Given the description of an element on the screen output the (x, y) to click on. 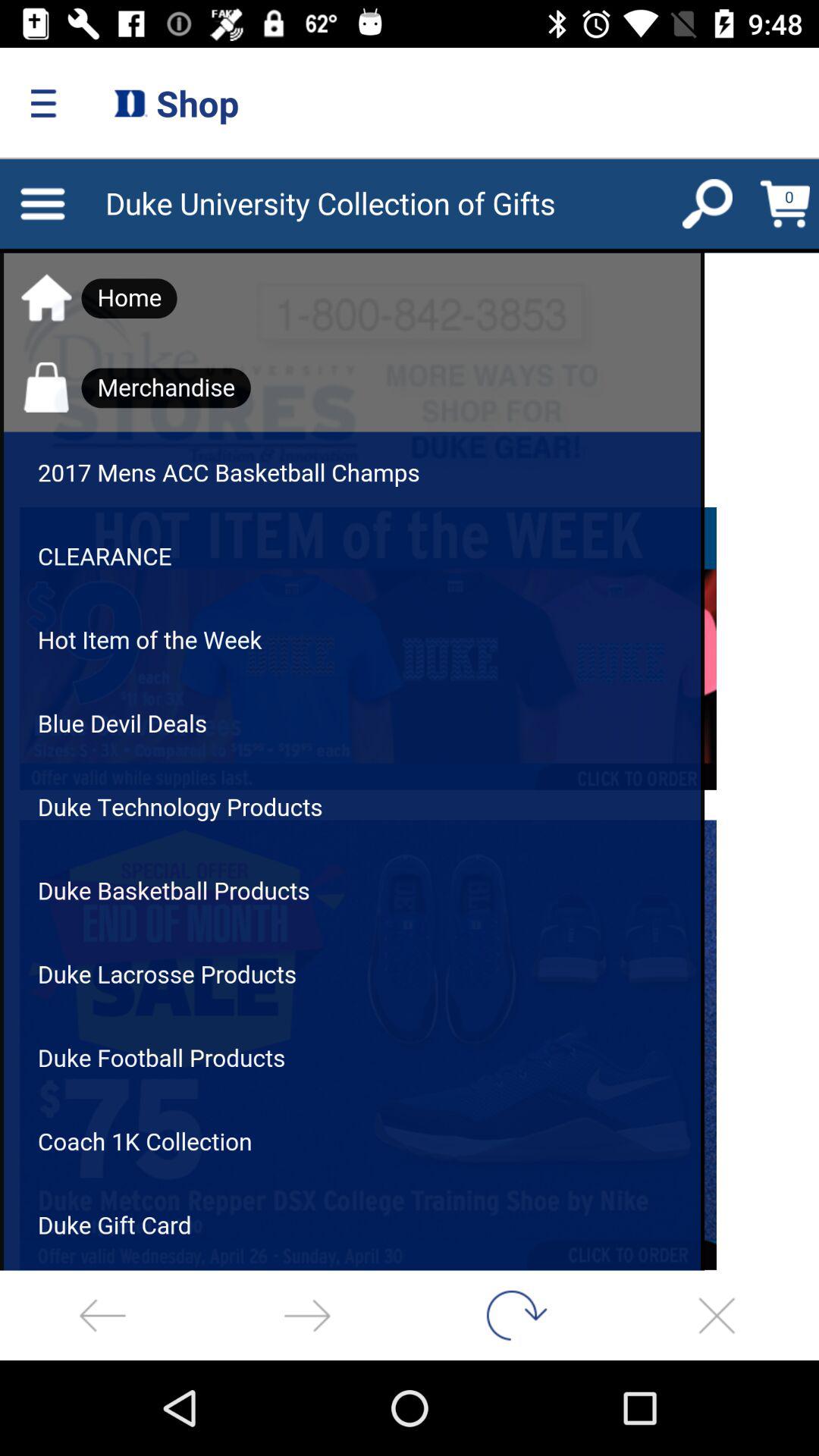
close window (716, 1315)
